Given the description of an element on the screen output the (x, y) to click on. 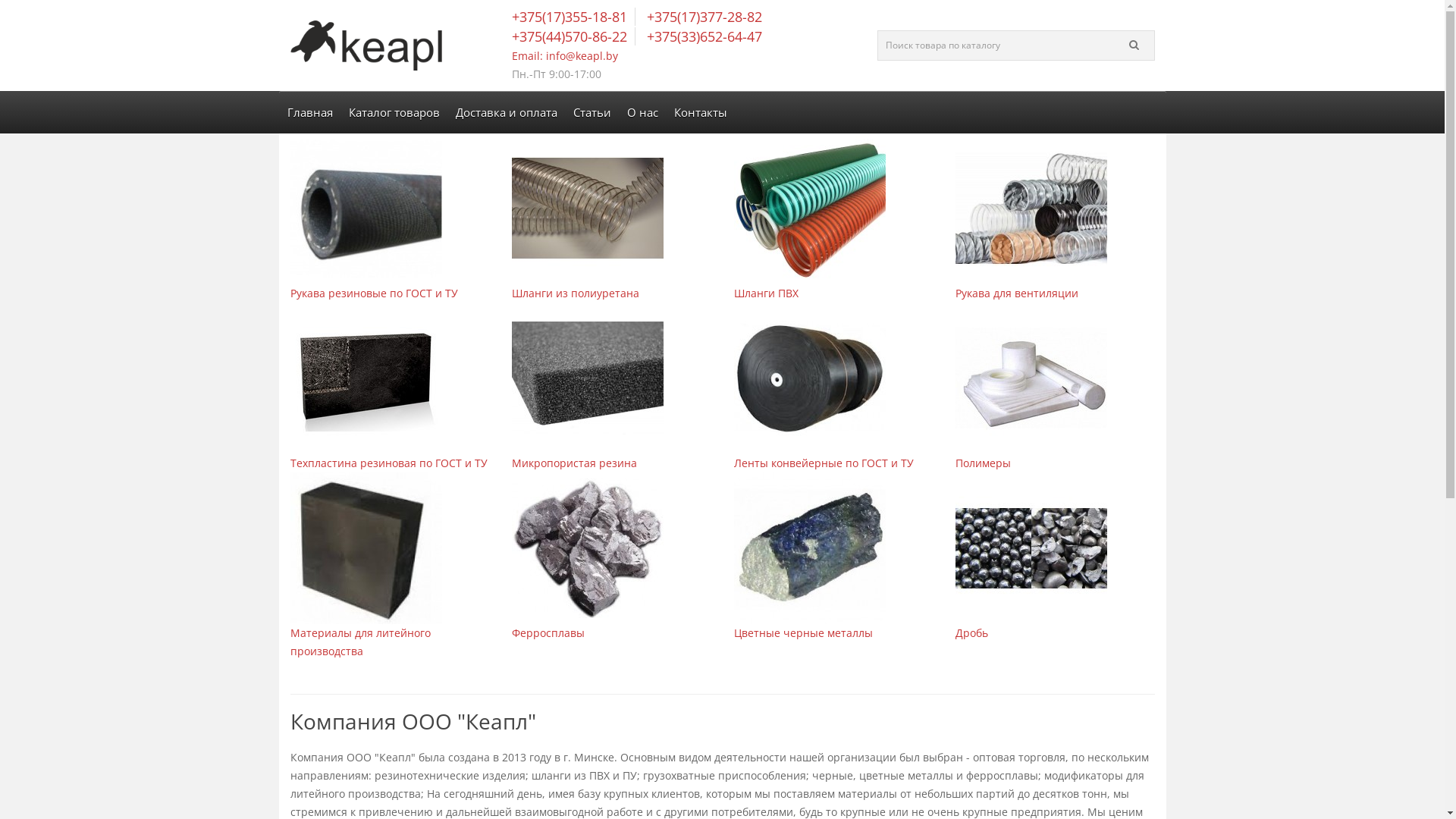
+375(17)377-28-82 Element type: text (701, 16)
Keapl.by Element type: hover (365, 45)
+375(44)570-86-22 Element type: text (572, 36)
+375(17)355-18-81 Element type: text (572, 16)
Email: info@keapl.by Element type: text (564, 55)
+375(33)652-64-47 Element type: text (701, 36)
